Given the description of an element on the screen output the (x, y) to click on. 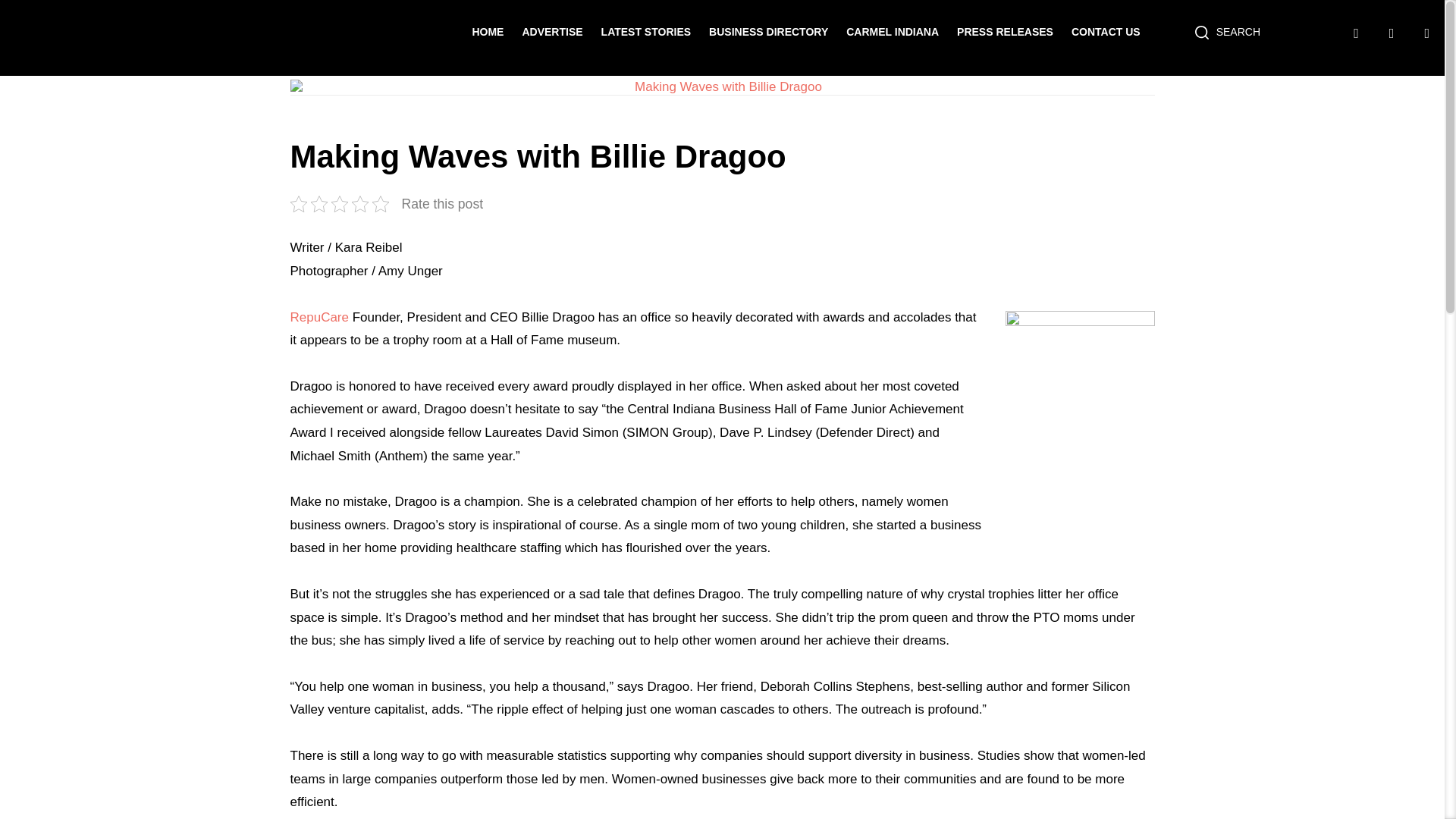
SEARCH (1227, 31)
ADVERTISE (551, 31)
CARMEL INDIANA (892, 31)
CONTACT US (1105, 31)
BUSINESS DIRECTORY (768, 31)
HOME (487, 31)
RepuCare (319, 317)
LATEST STORIES (646, 31)
PRESS RELEASES (1004, 31)
